Given the description of an element on the screen output the (x, y) to click on. 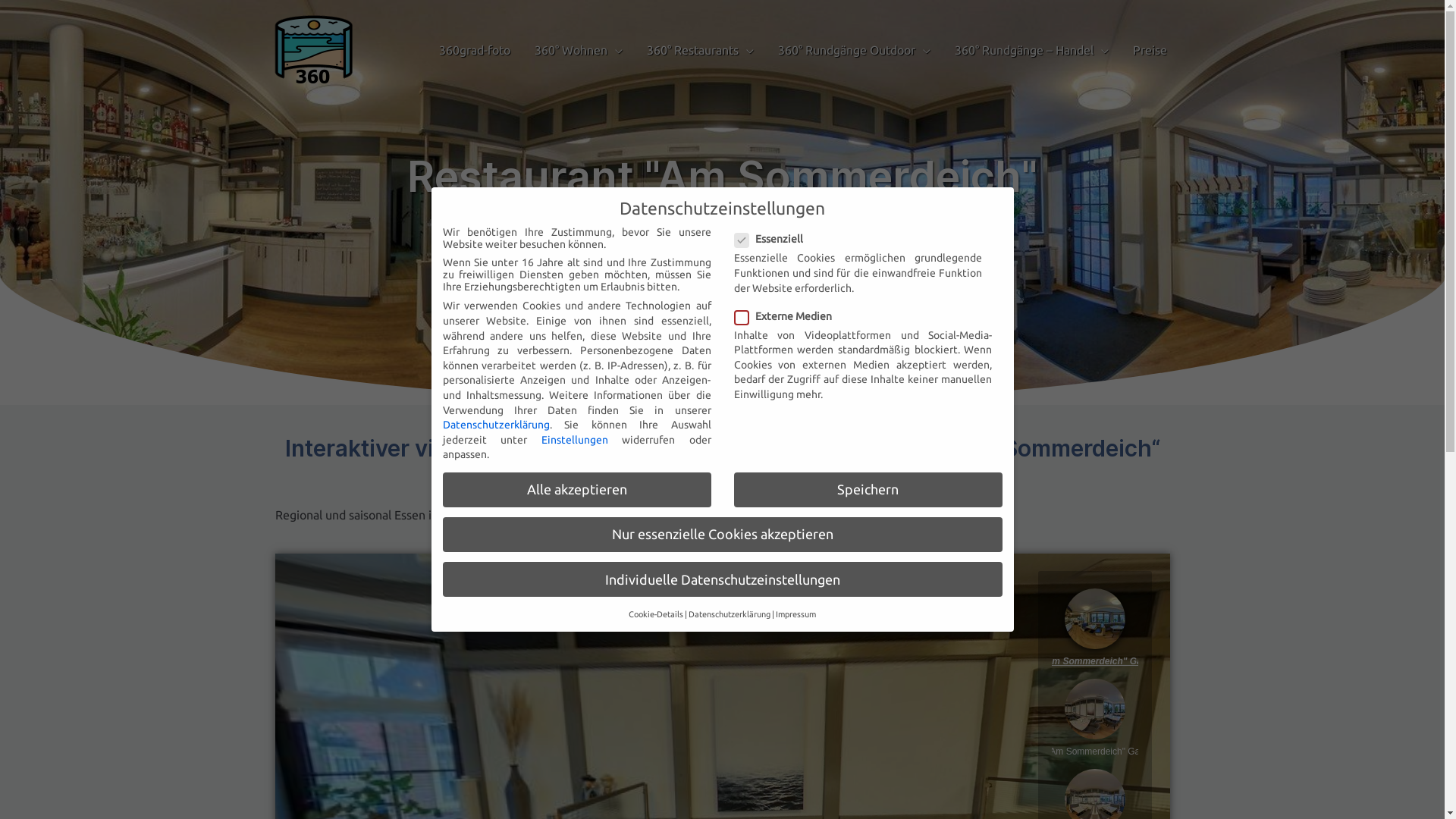
Nur essenzielle Cookies akzeptieren Element type: text (722, 534)
360grad-foto Element type: text (473, 49)
Einstellungen Element type: text (574, 439)
Preise Element type: text (1149, 49)
Speichern Element type: text (868, 489)
Individuelle Datenschutzeinstellungen Element type: text (722, 578)
360grad-weiss Element type: hover (721, 276)
Cookie-Details Element type: text (655, 613)
Impressum Element type: text (795, 613)
Alle akzeptieren Element type: text (576, 489)
